Given the description of an element on the screen output the (x, y) to click on. 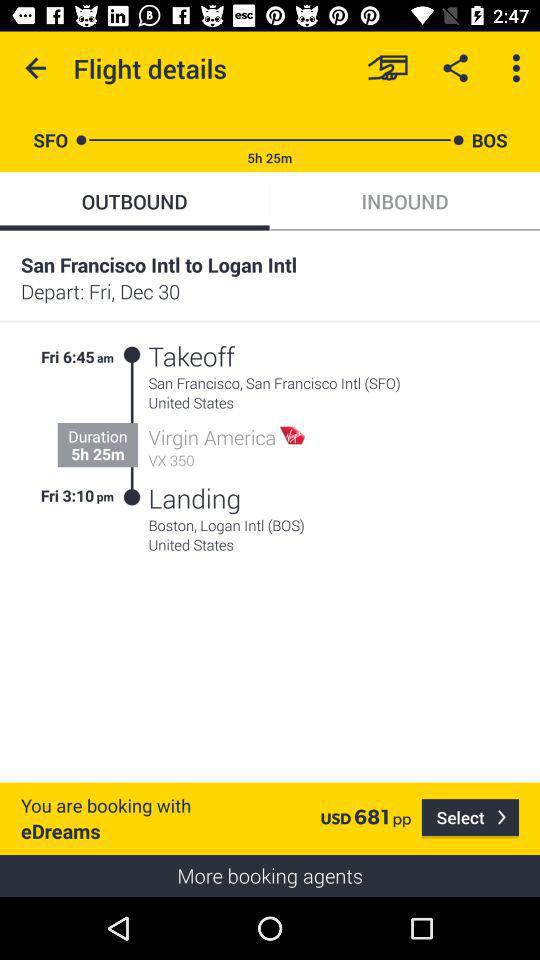
swipe until am (106, 354)
